Given the description of an element on the screen output the (x, y) to click on. 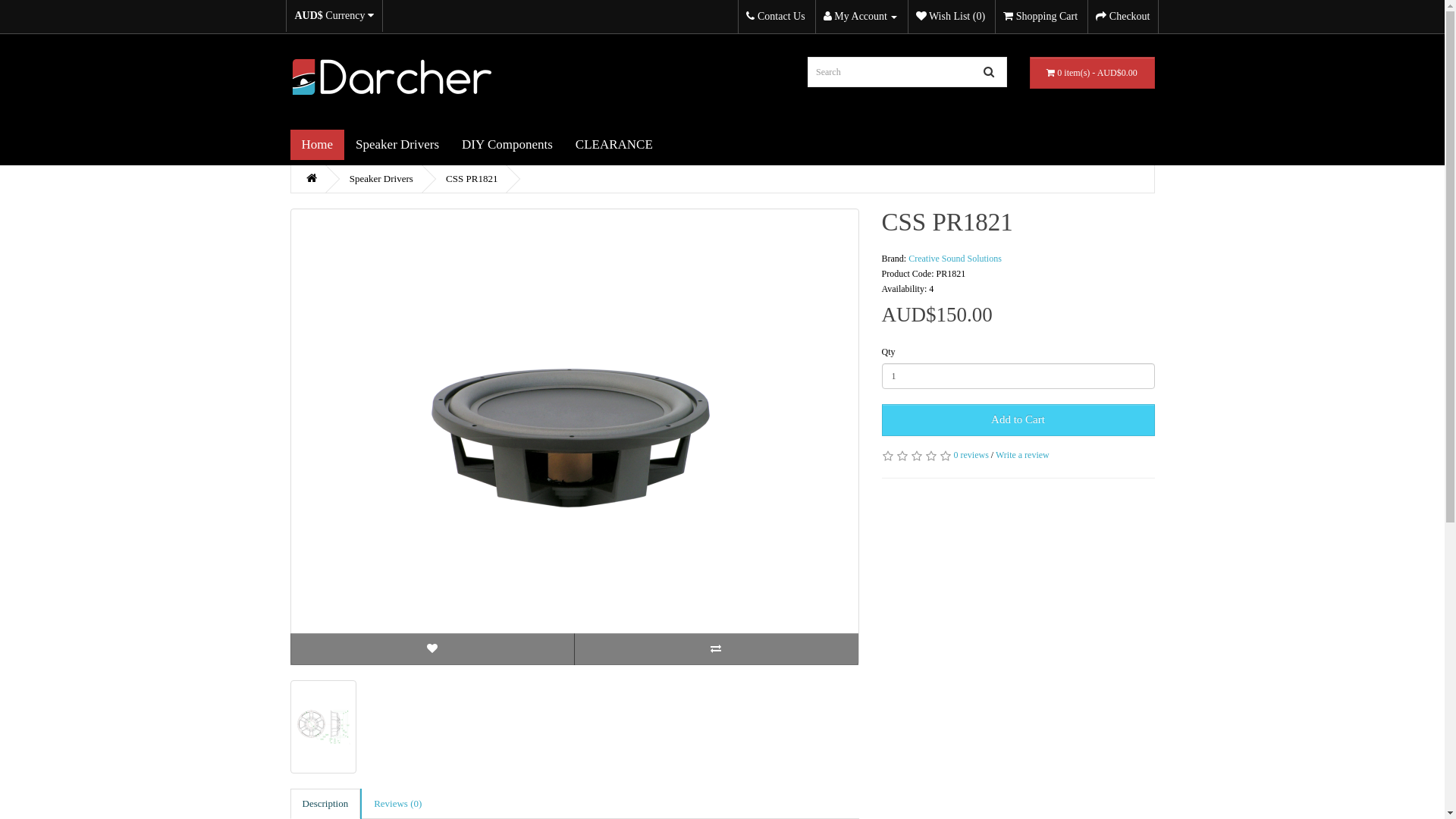
Write a review Element type: text (1022, 454)
AUD$ Currency Element type: text (333, 15)
My Account Element type: text (860, 15)
0 reviews Element type: text (970, 454)
CSS PR1821 Element type: hover (573, 436)
Speaker Drivers Element type: text (397, 144)
CSS PR1821 Element type: hover (574, 436)
Contact Us Element type: text (775, 15)
Darcher Element type: hover (389, 76)
CLEARANCE Element type: text (614, 144)
Speaker Drivers Element type: text (381, 178)
Add to Cart Element type: text (1017, 420)
Creative Sound Solutions Element type: text (954, 258)
Home Element type: text (316, 144)
CSS PR1821 Element type: hover (322, 726)
CSS PR1821 Element type: text (471, 178)
Shopping Cart Element type: text (1040, 15)
Checkout Element type: text (1122, 15)
0 item(s) - AUD$0.00 Element type: text (1091, 72)
Wish List (0) Element type: text (950, 15)
DIY Components Element type: text (507, 144)
CSS PR1821 Element type: hover (322, 726)
